Given the description of an element on the screen output the (x, y) to click on. 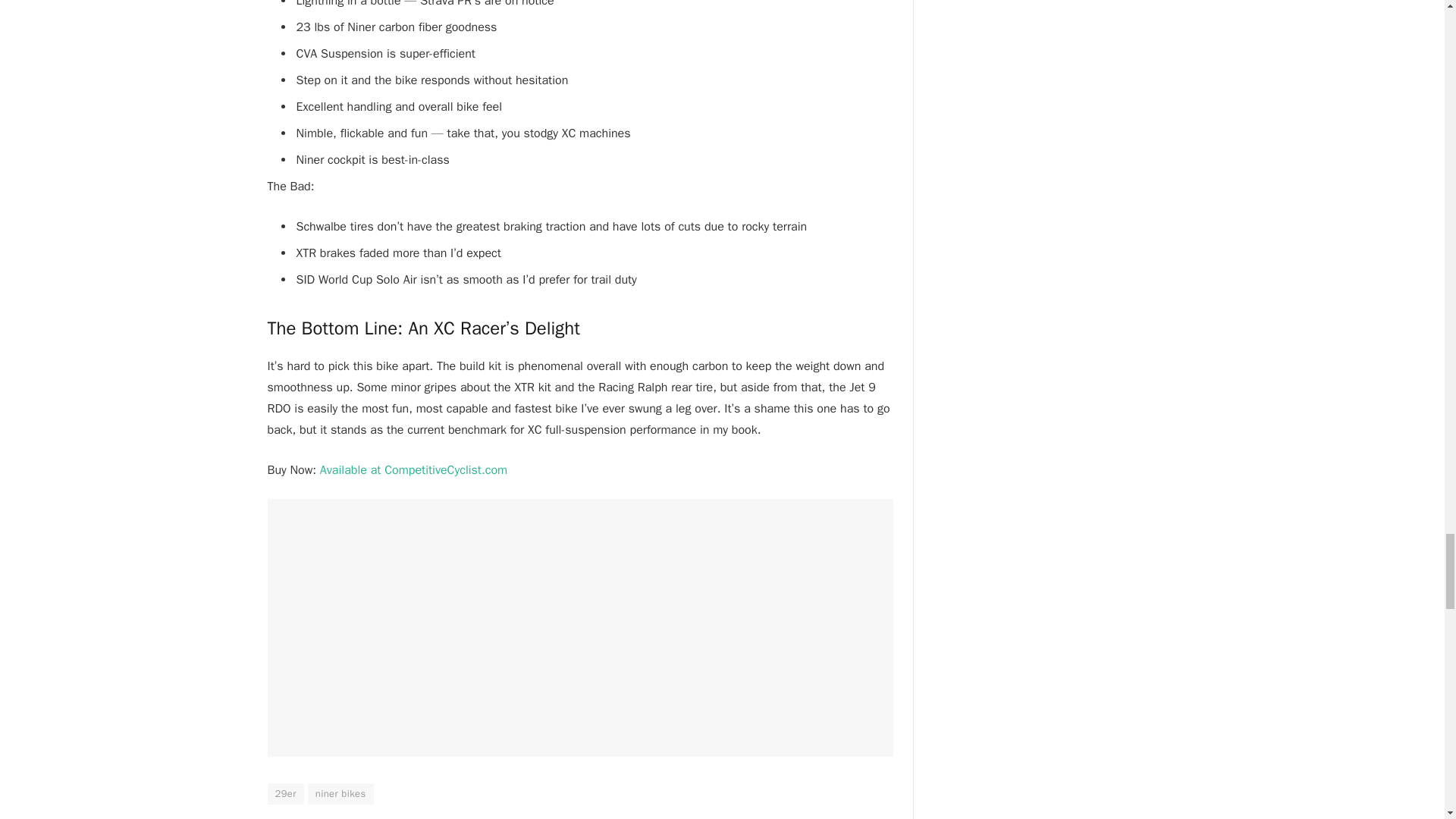
29er (284, 793)
Available at CompetitiveCyclist.com (413, 469)
niner bikes (340, 793)
